Given the description of an element on the screen output the (x, y) to click on. 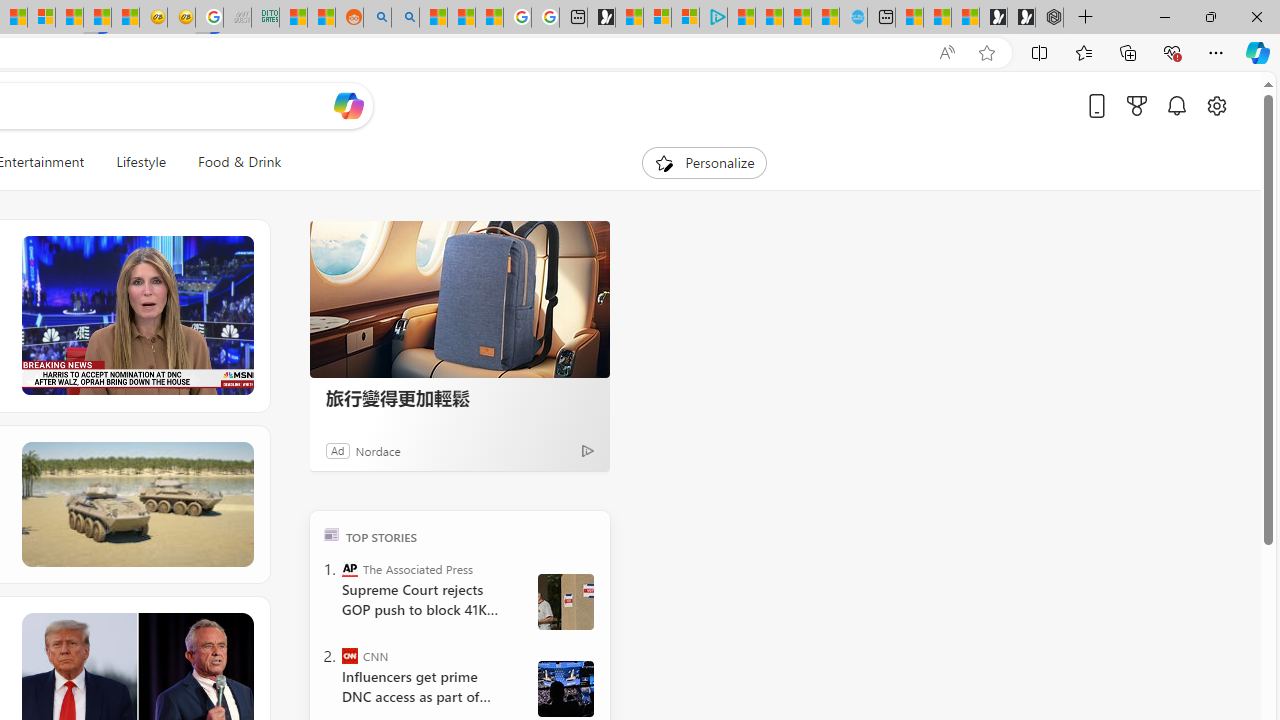
MSN (97, 17)
Food & Drink (231, 162)
Personalize (703, 162)
Home | Sky Blue Bikes - Sky Blue Bikes (852, 17)
Nordace - Nordace Siena Is Not An Ordinary Backpack (1049, 17)
